Given the description of an element on the screen output the (x, y) to click on. 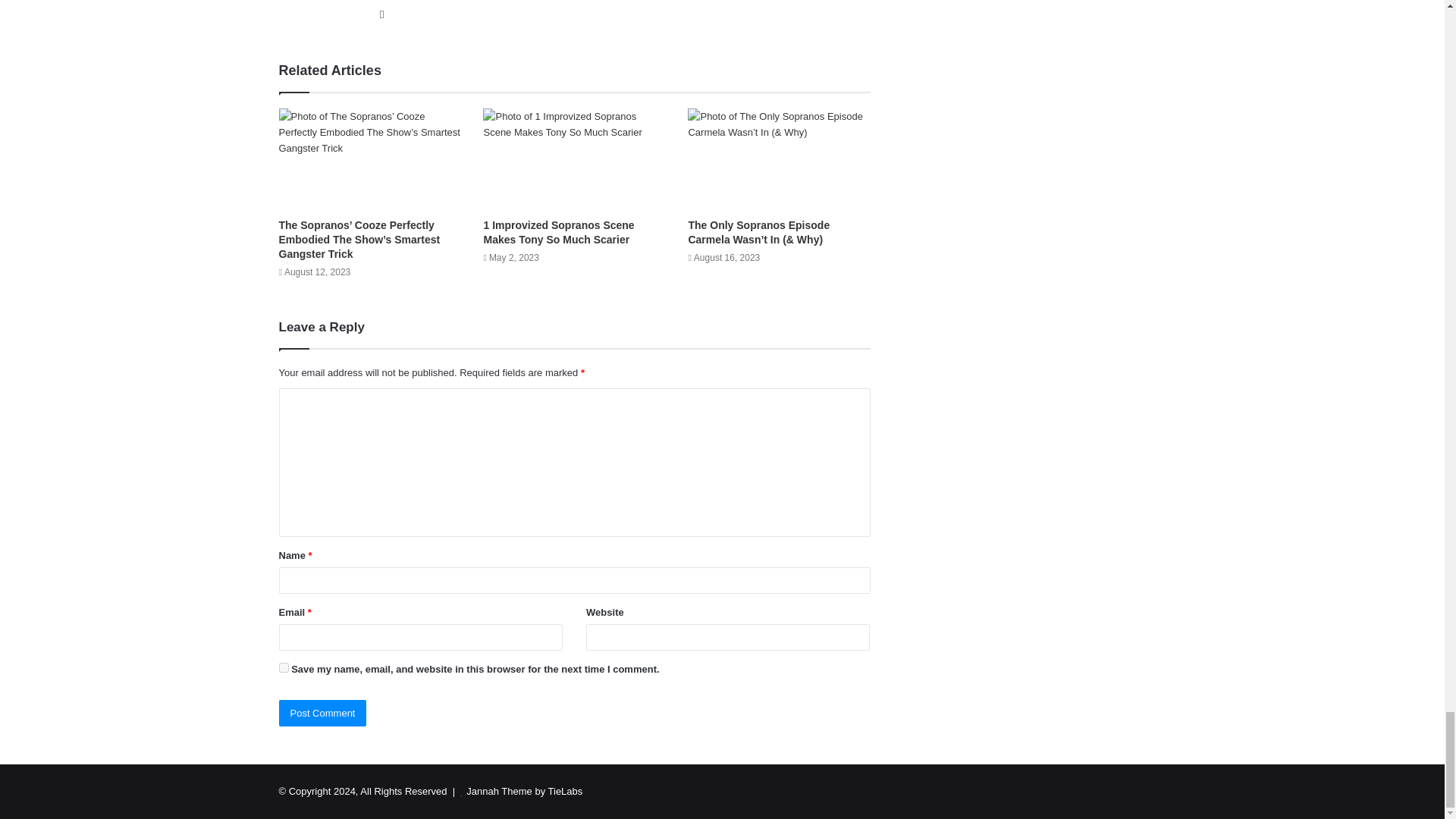
Post Comment (322, 713)
1 Improvized Sopranos Scene Makes Tony So Much Scarier (558, 232)
Website (381, 13)
yes (283, 667)
Post Comment (322, 713)
